Given the description of an element on the screen output the (x, y) to click on. 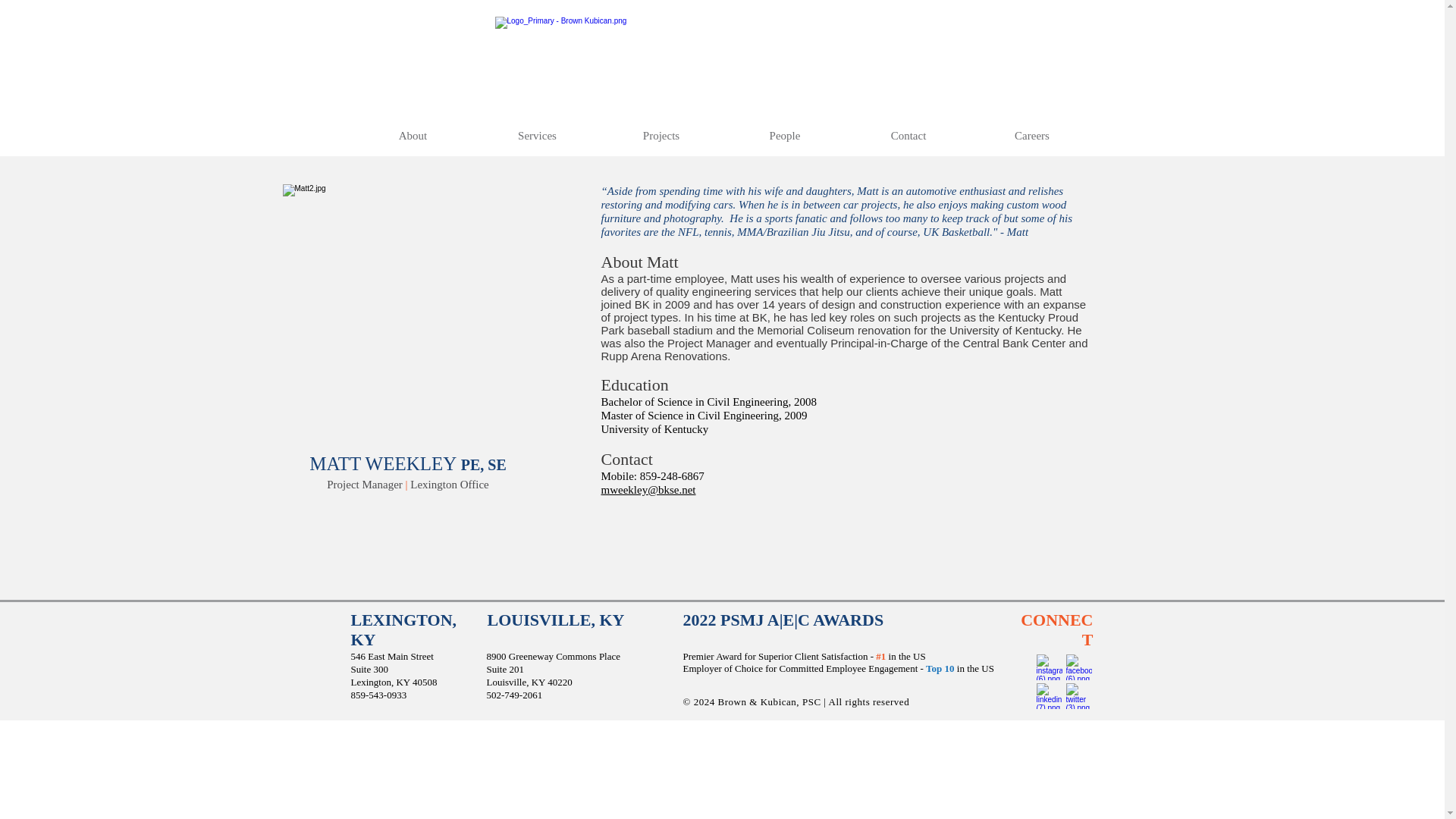
About (412, 135)
People (785, 135)
Careers (1032, 135)
Services (536, 135)
Projects (660, 135)
Contact (907, 135)
